Given the description of an element on the screen output the (x, y) to click on. 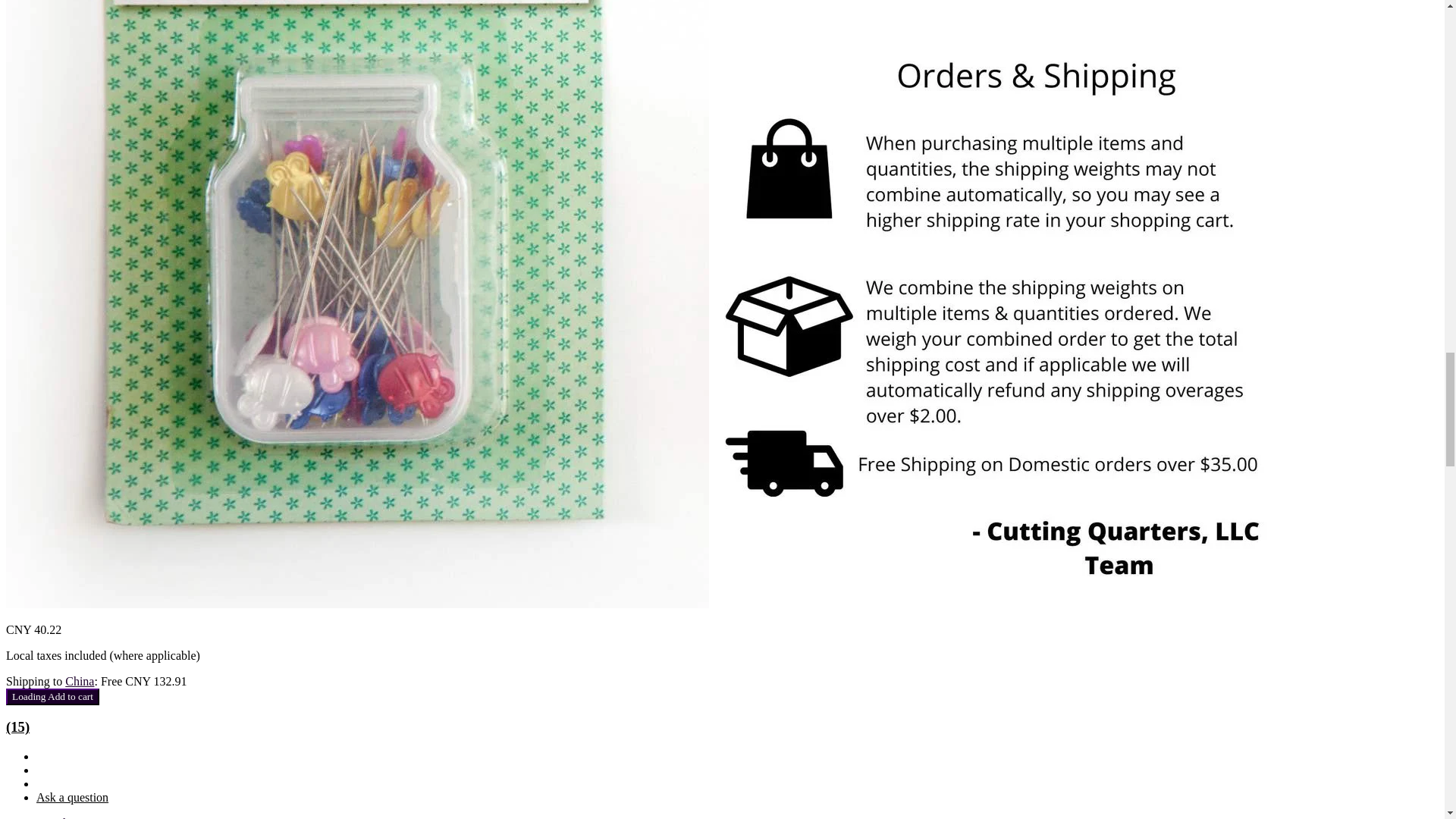
Loading Add to cart (52, 696)
China (79, 680)
Ask a question (71, 797)
Details (52, 817)
